Given the description of an element on the screen output the (x, y) to click on. 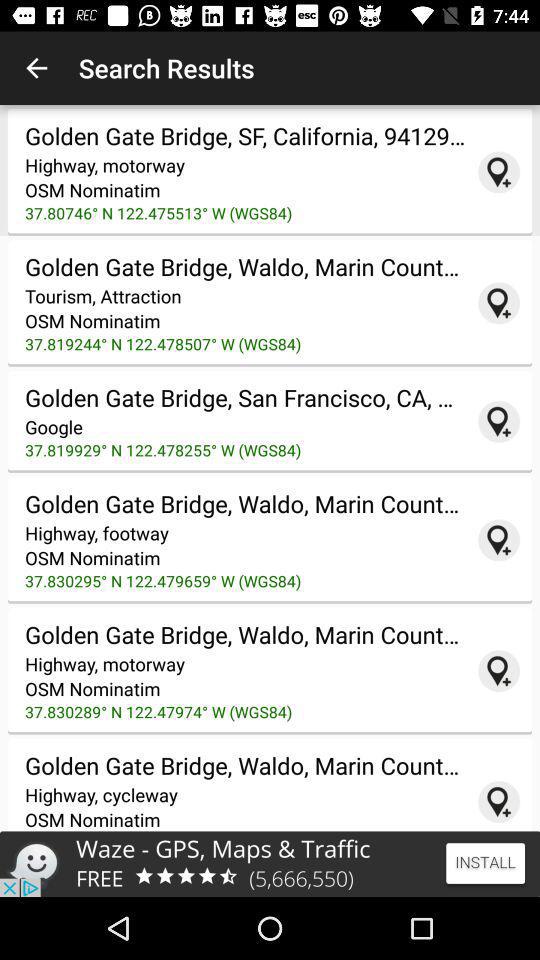
go to location (499, 303)
